Given the description of an element on the screen output the (x, y) to click on. 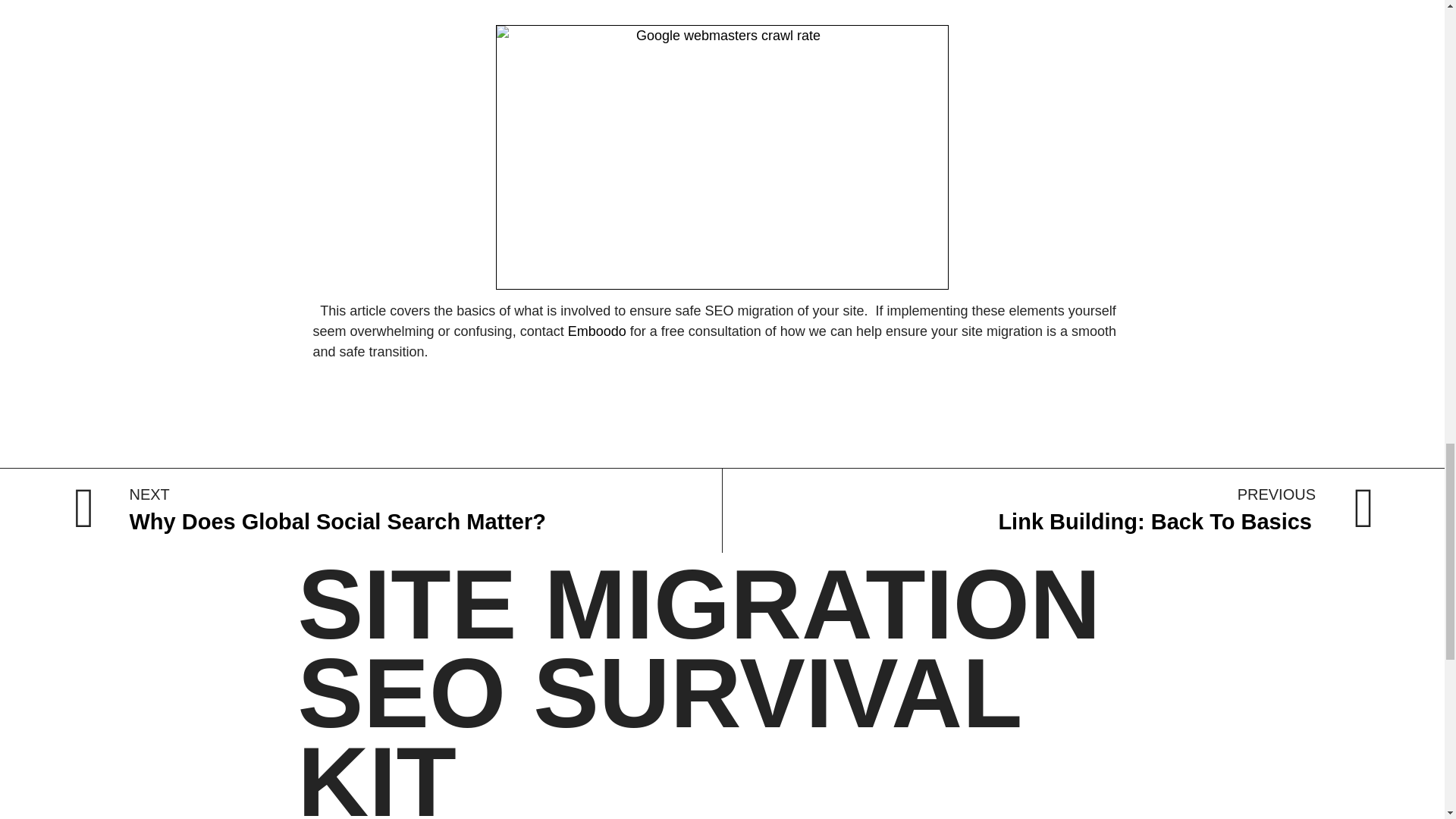
SEO Site Migration (596, 331)
Emboodo (396, 510)
crawl-stats (596, 331)
